Given the description of an element on the screen output the (x, y) to click on. 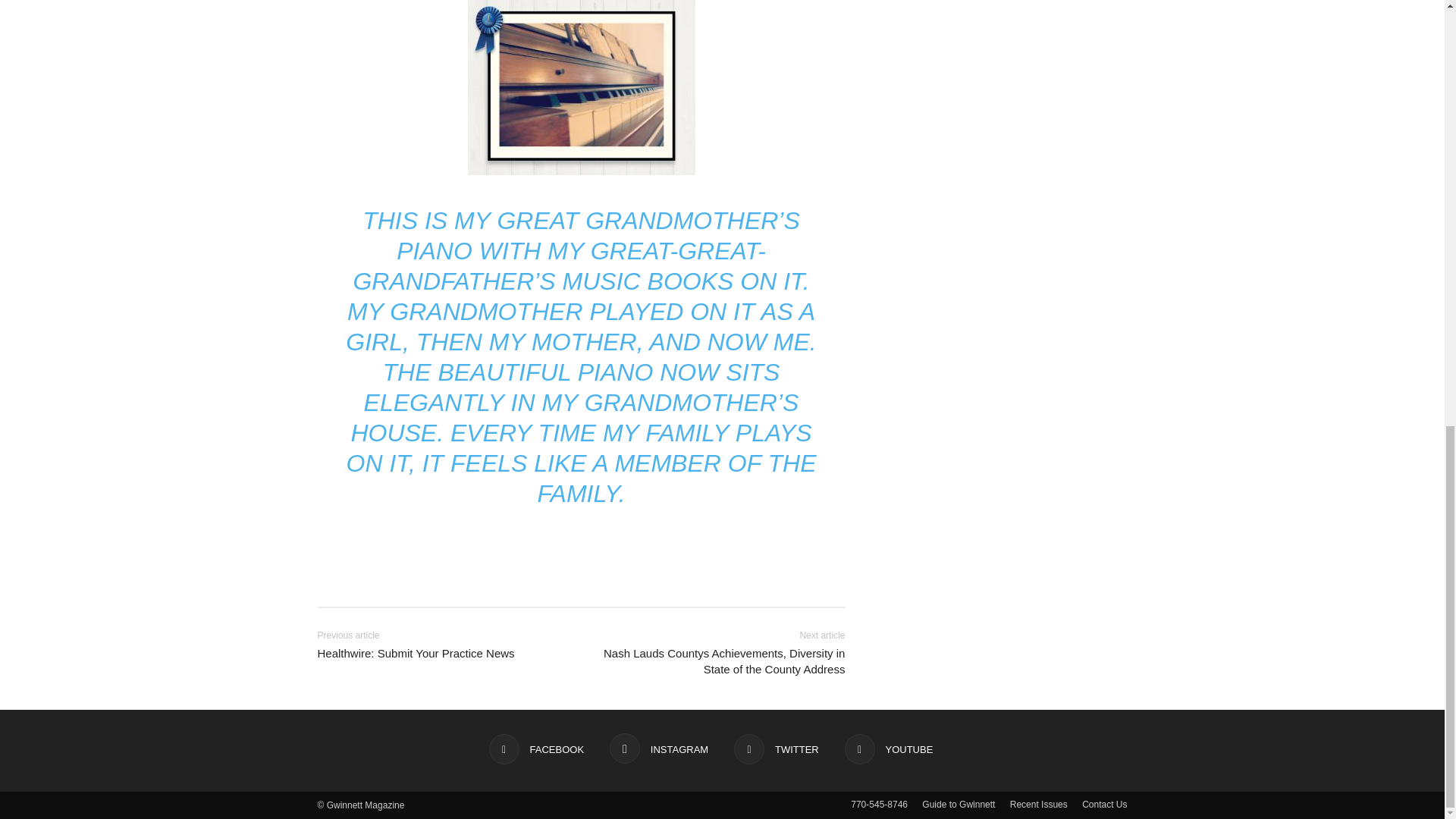
Facebook (536, 748)
Instagram (658, 748)
Twitter (775, 748)
Youtube (888, 748)
